Given the description of an element on the screen output the (x, y) to click on. 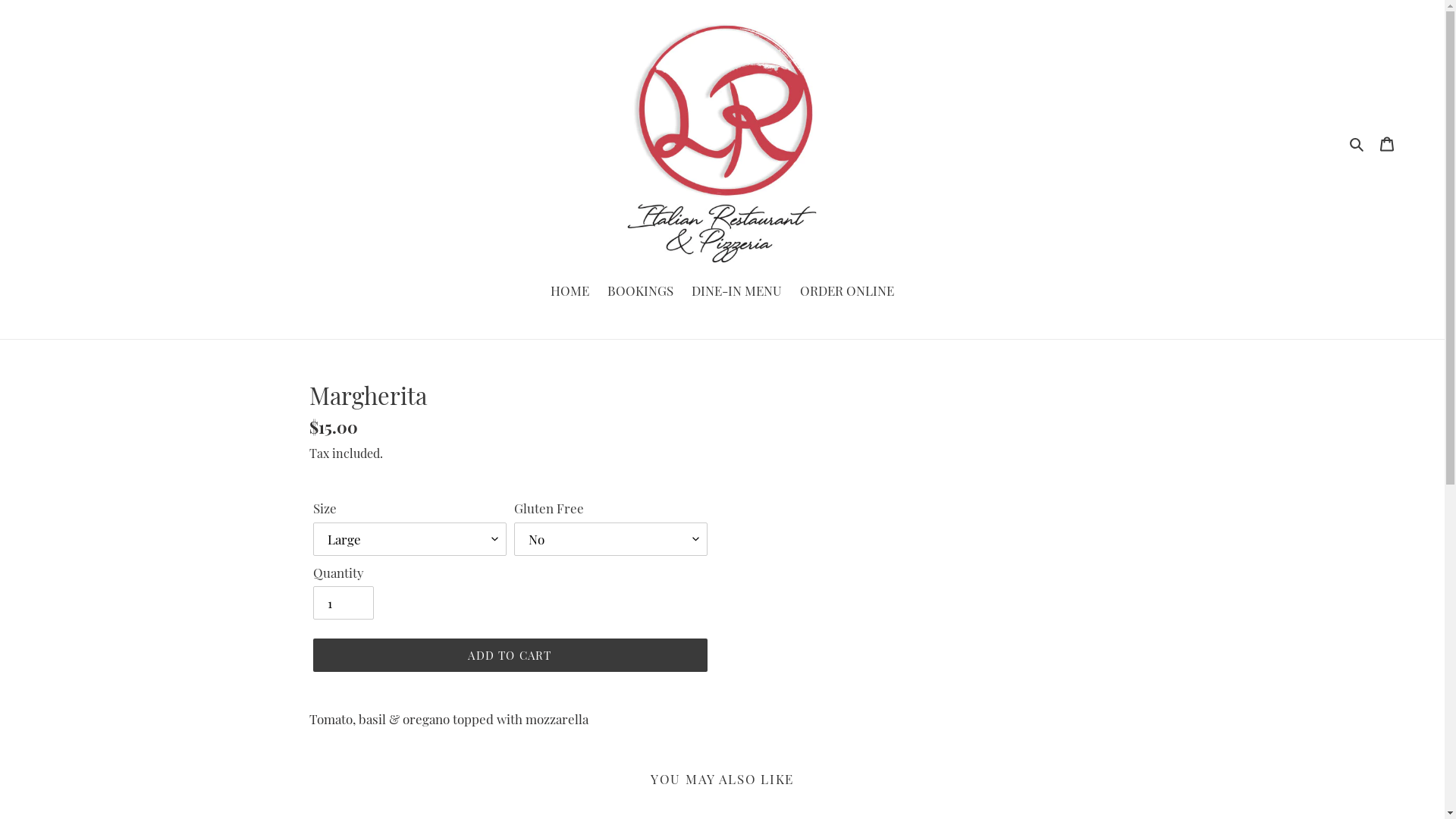
ADD TO CART Element type: text (509, 654)
DINE-IN MENU Element type: text (736, 292)
HOME Element type: text (569, 292)
BOOKINGS Element type: text (639, 292)
ORDER ONLINE Element type: text (846, 292)
Cart Element type: text (1386, 142)
Search Element type: text (1357, 142)
